Given the description of an element on the screen output the (x, y) to click on. 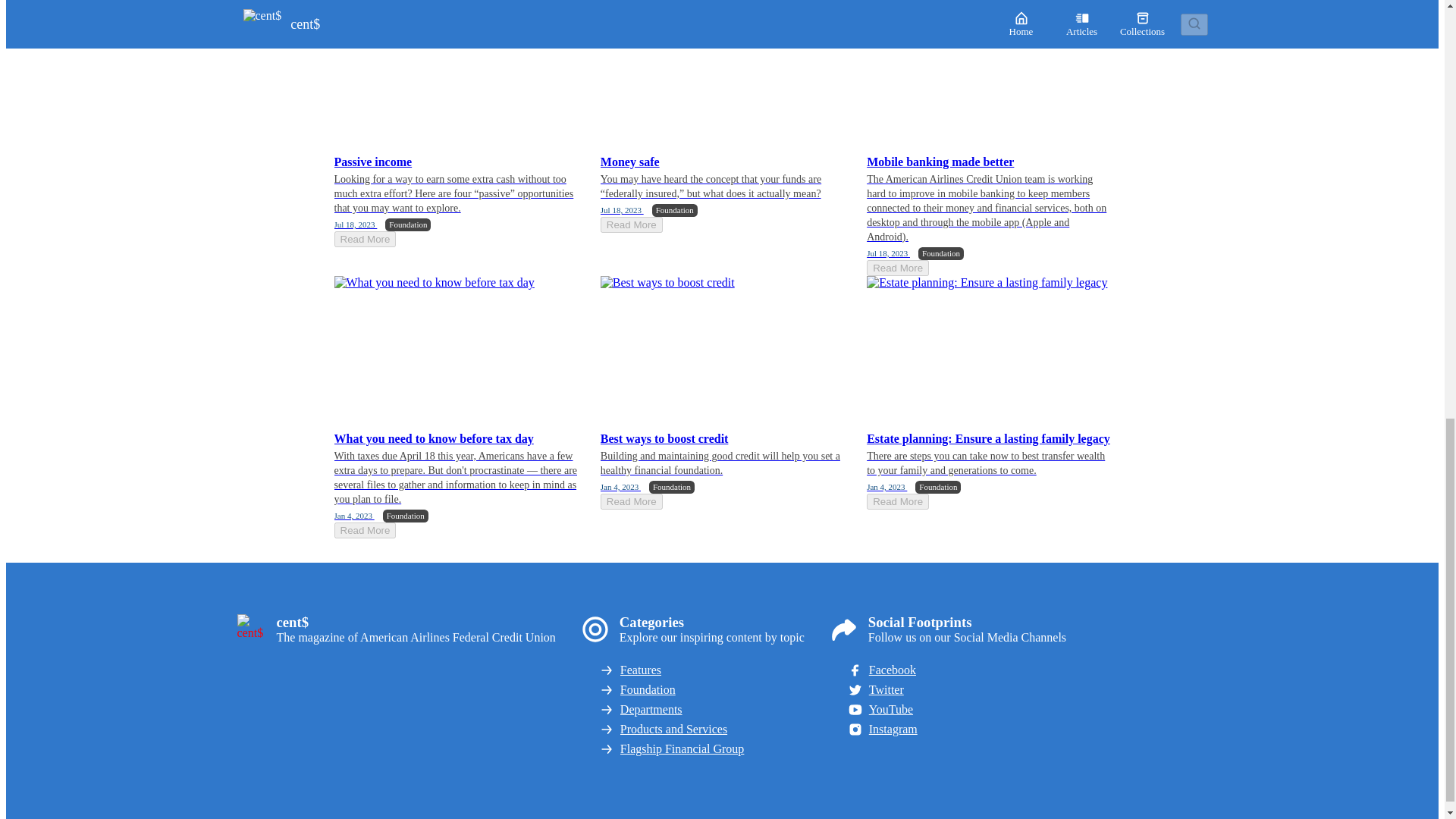
Read More (897, 501)
Read More (364, 530)
Read More (364, 238)
Products and Services (712, 729)
Twitter (956, 689)
Foundation (712, 689)
Features (712, 670)
Instagram (956, 729)
Read More (630, 501)
Read More (630, 224)
Facebook (956, 670)
Departments (712, 709)
YouTube (956, 709)
Read More (897, 268)
